Given the description of an element on the screen output the (x, y) to click on. 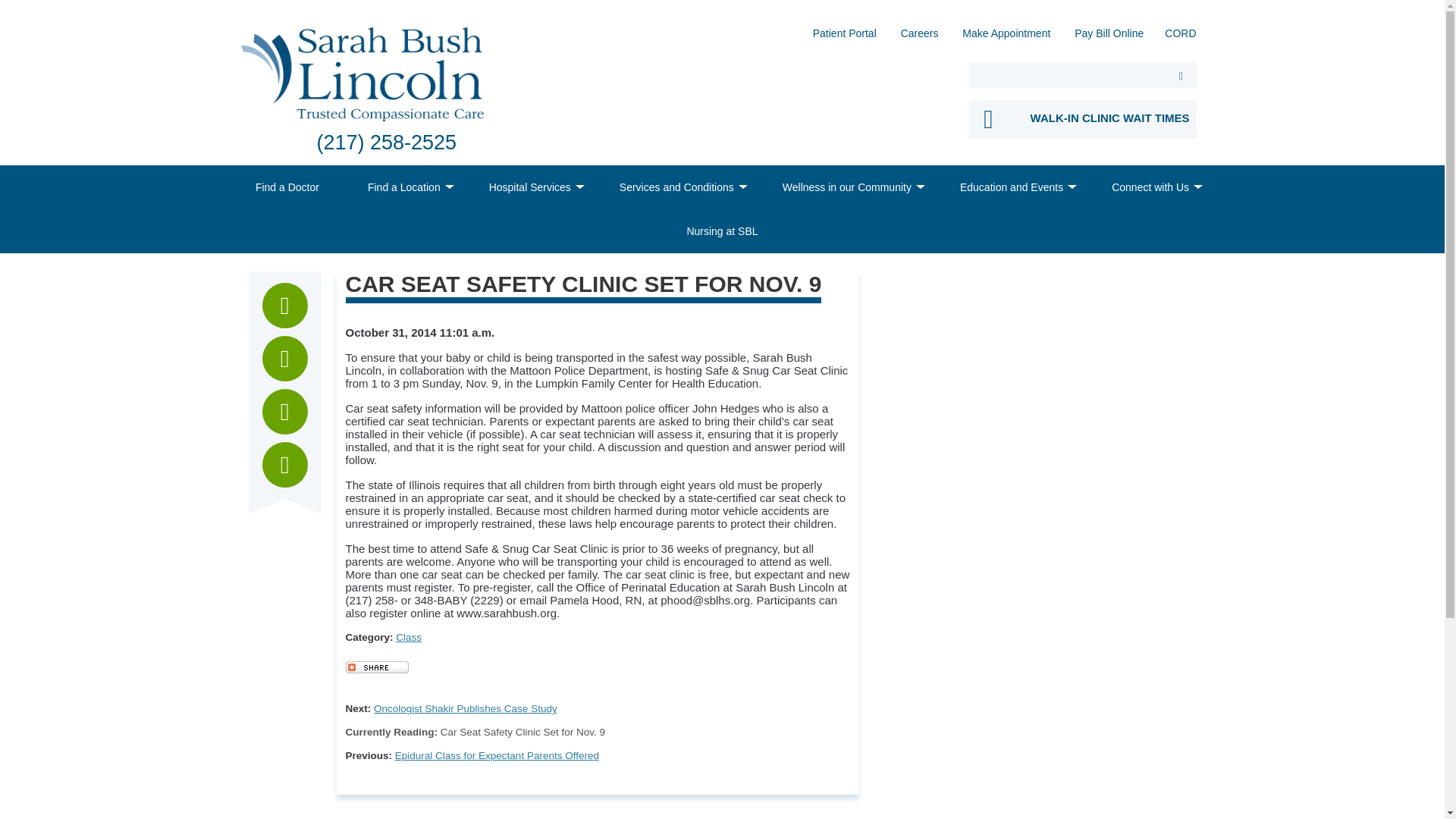
Find a Location (403, 187)
Find a Doctor (287, 187)
Search (1181, 75)
WALK-IN CLINIC WAIT TIMES (1082, 118)
Pay Bill Online (1108, 38)
Patient Portal (844, 38)
Skip to Content (5, 4)
CORD (1179, 38)
Hospital Services (529, 187)
Make Appointment (1005, 38)
Careers (920, 38)
SUBMIT (1181, 75)
